Given the description of an element on the screen output the (x, y) to click on. 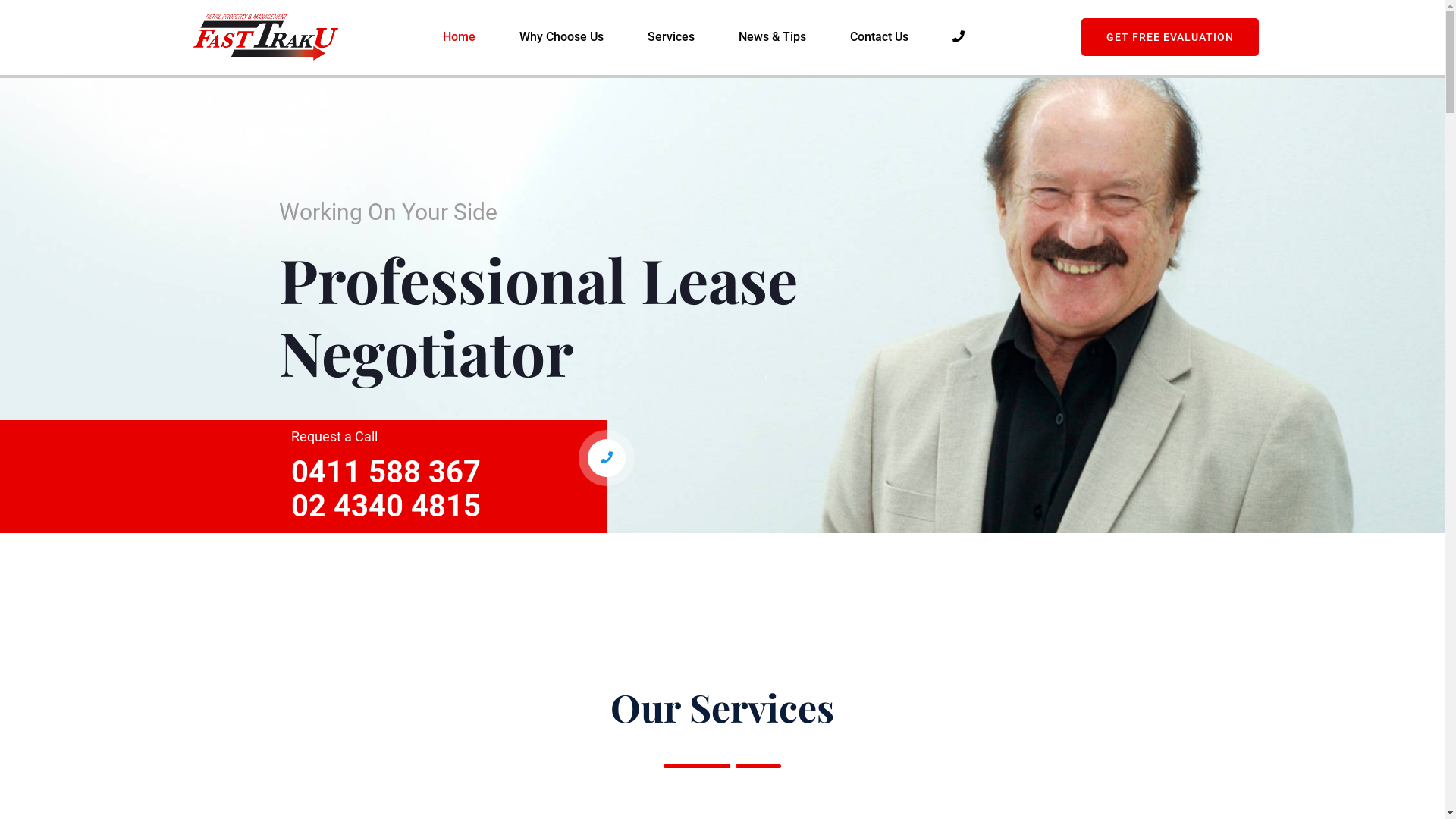
News & Tips Element type: text (772, 37)
Services Element type: text (671, 37)
02 4340 4815 Element type: text (385, 506)
Contact Us Element type: text (878, 37)
Home Element type: text (458, 37)
GET FREE EVALUATION Element type: text (1169, 37)
0411 588 367 Element type: text (385, 471)
Why Choose Us Element type: text (561, 37)
